Given the description of an element on the screen output the (x, y) to click on. 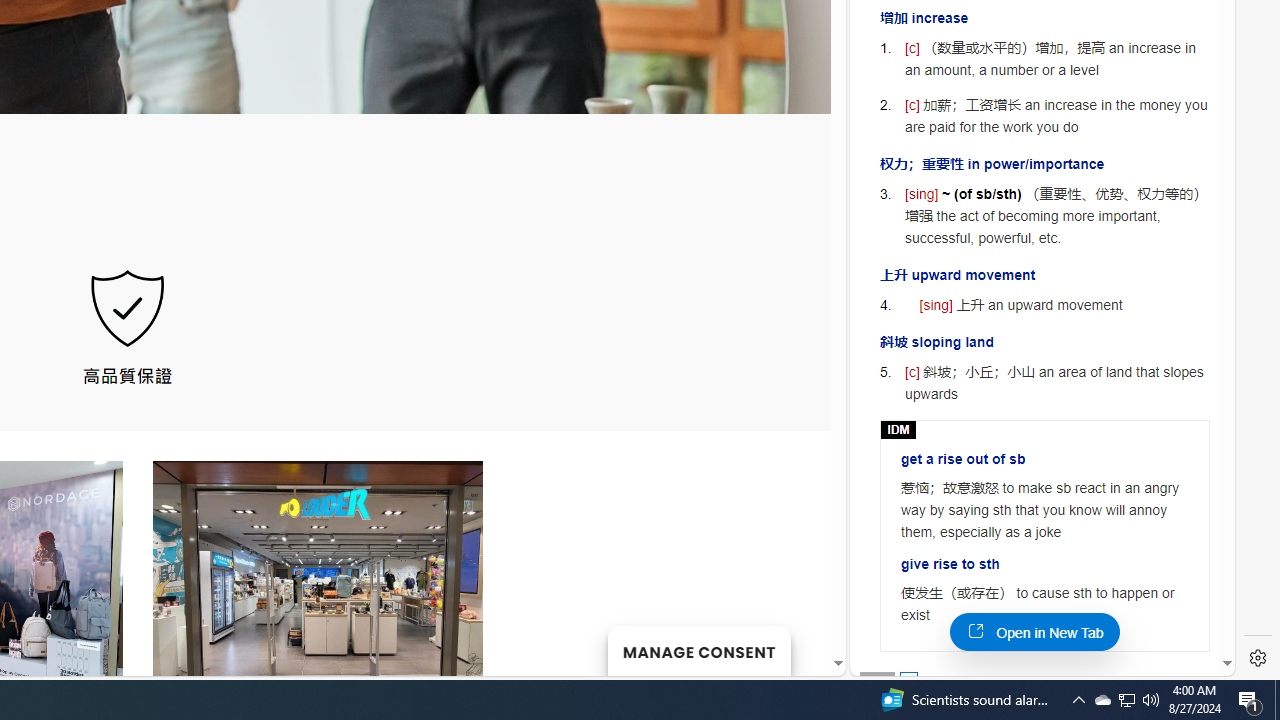
AutomationID: posbtn_1 (908, 680)
MANAGE CONSENT (698, 650)
